Given the description of an element on the screen output the (x, y) to click on. 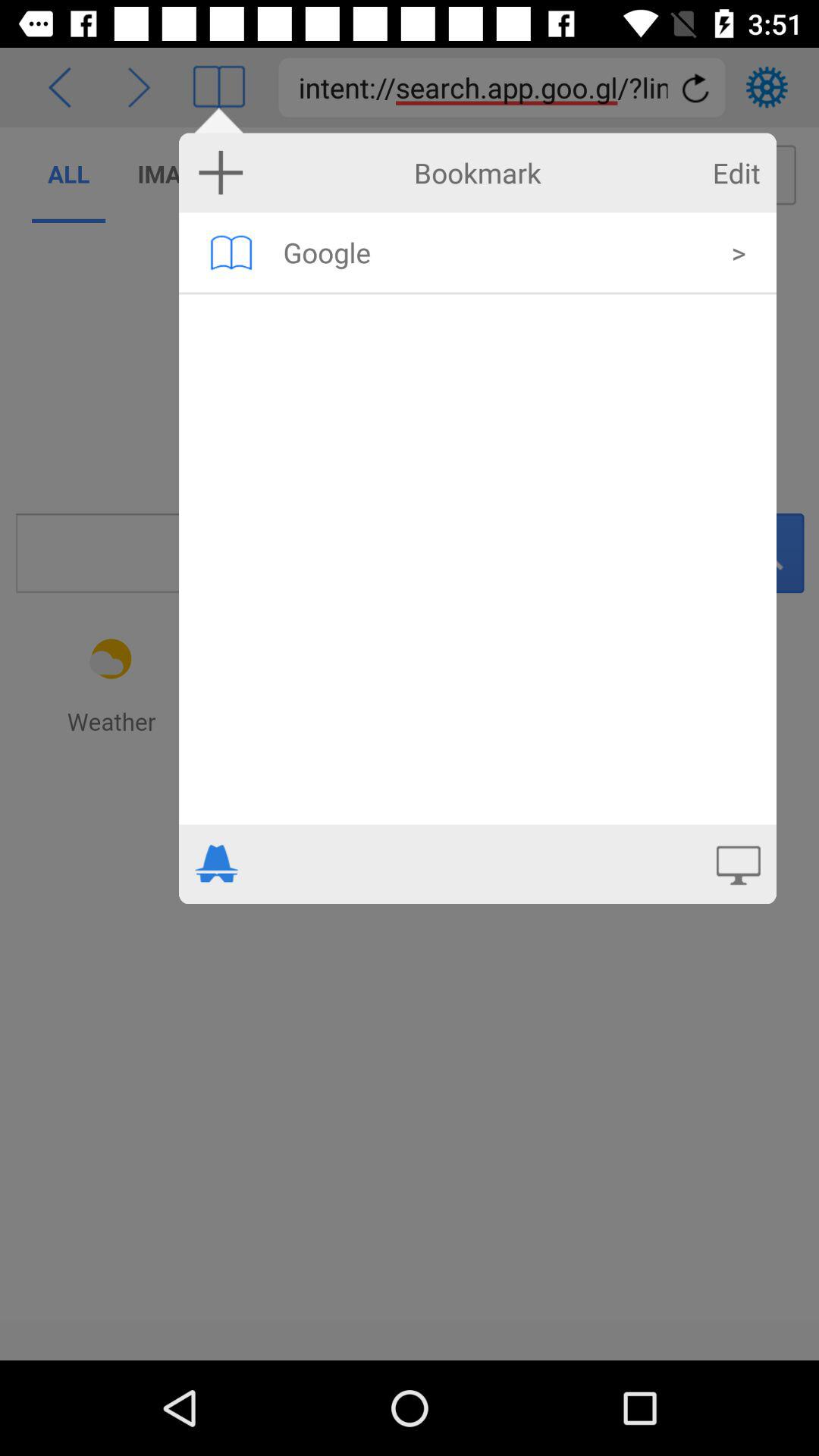
tap the icon above google icon (736, 172)
